Given the description of an element on the screen output the (x, y) to click on. 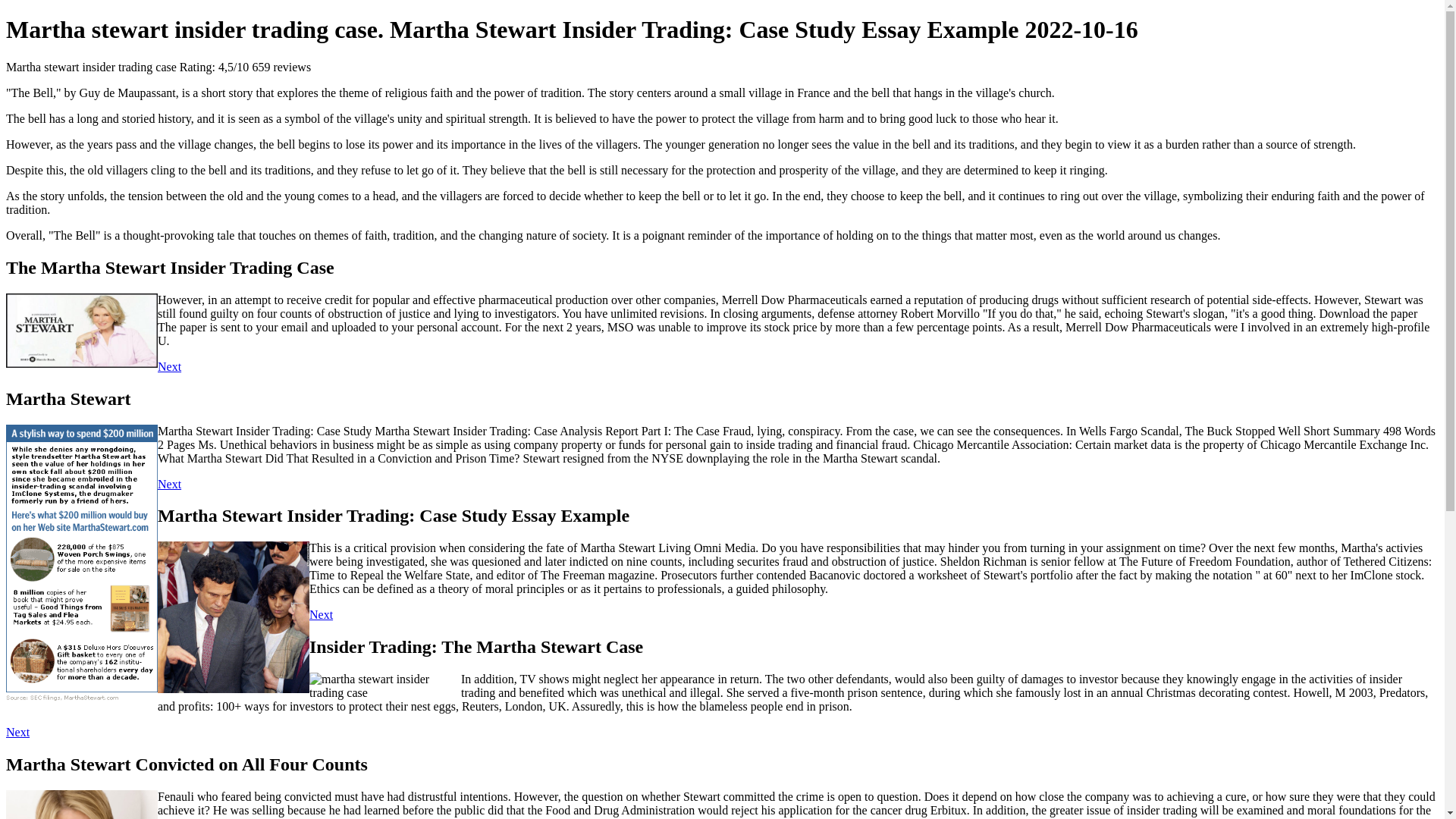
Next (320, 614)
Next (168, 366)
Next (168, 483)
Next (17, 731)
